Given the description of an element on the screen output the (x, y) to click on. 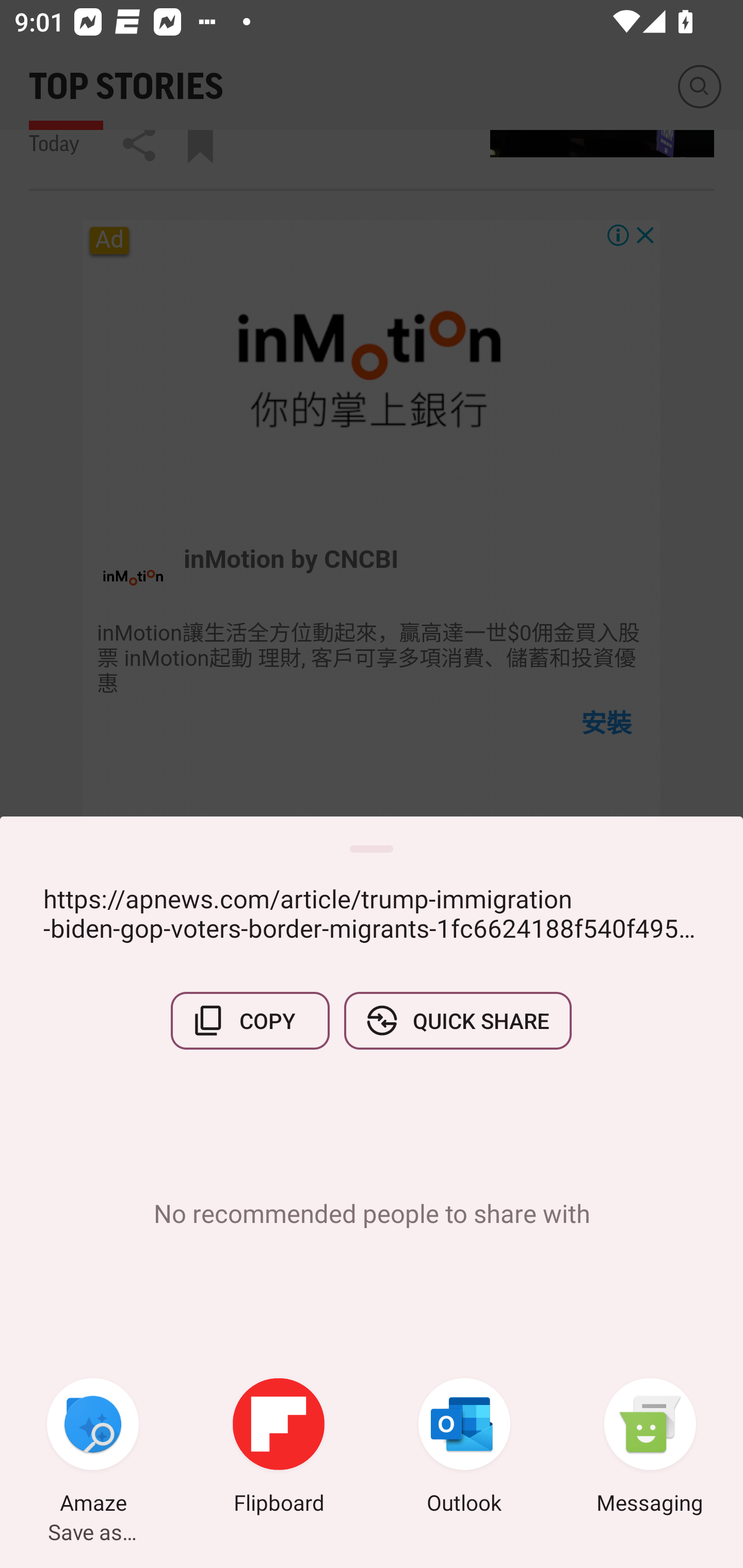
COPY (249, 1020)
QUICK SHARE (457, 1020)
Amaze Save as… (92, 1448)
Flipboard (278, 1448)
Outlook (464, 1448)
Messaging (650, 1448)
